Given the description of an element on the screen output the (x, y) to click on. 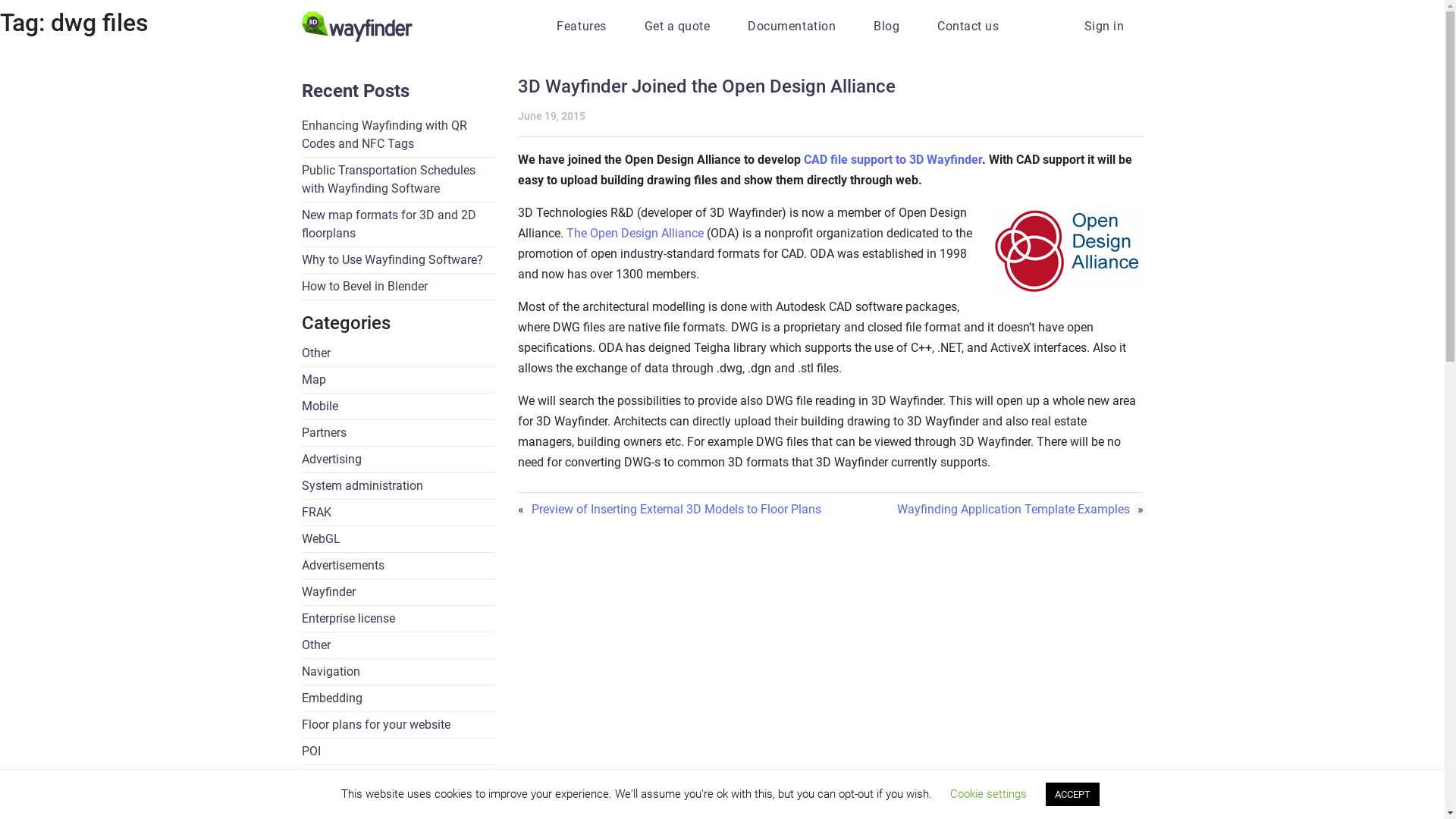
Map Element type: text (398, 380)
Preview of Inserting External 3D Models to Floor Plans Element type: text (675, 509)
User manual Element type: text (398, 778)
How to Bevel in Blender Element type: text (398, 286)
Enterprise license Element type: text (398, 618)
Wayfinding Application Template Examples Element type: text (1012, 509)
Documentation Element type: text (791, 25)
Embedding Element type: text (398, 698)
Other Element type: text (398, 645)
Projects Element type: text (398, 804)
Alliance Element type: text (680, 232)
Advertisements Element type: text (398, 565)
Public Transportation Schedules with Wayfinding Software Element type: text (398, 179)
WebGL Element type: text (398, 539)
Floor plans for your website Element type: text (398, 725)
Get a quote Element type: text (677, 25)
Contact us Element type: text (967, 25)
Enhancing Wayfinding with QR Codes and NFC Tags Element type: text (398, 134)
T Element type: text (569, 232)
Other Element type: text (398, 353)
CAD file support to 3D Wayfinder Element type: text (892, 159)
he Open Design Element type: text (615, 232)
FRAK Element type: text (398, 512)
Features Element type: text (580, 25)
Advertising Element type: text (398, 459)
New map formats for 3D and 2D floorplans Element type: text (398, 224)
Mobile Element type: text (398, 406)
Sign in Element type: text (1104, 25)
POI Element type: text (398, 751)
System administration Element type: text (398, 486)
Partners Element type: text (398, 433)
Cookie settings Element type: text (988, 793)
Blog Element type: text (886, 25)
Why to Use Wayfinding Software? Element type: text (398, 260)
Wayfinder Element type: text (398, 592)
ACCEPT Element type: text (1072, 794)
Navigation Element type: text (398, 671)
